Given the description of an element on the screen output the (x, y) to click on. 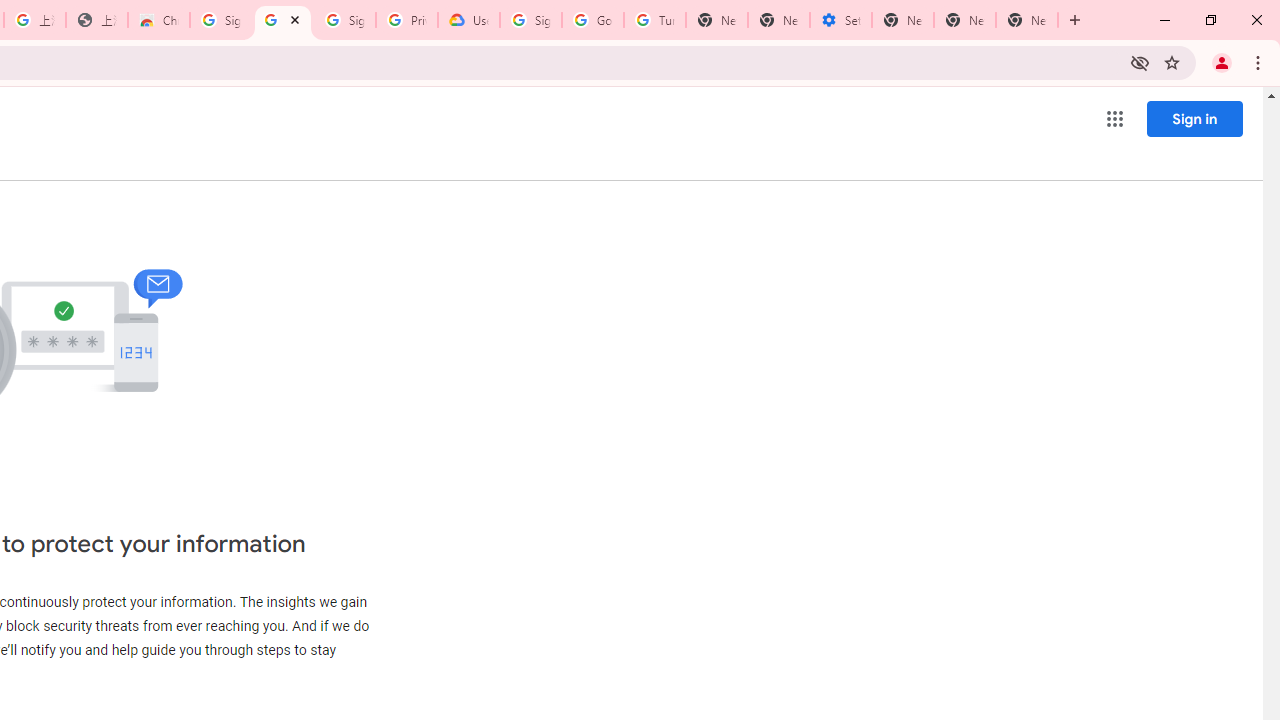
Settings - System (840, 20)
Sign in - Google Accounts (530, 20)
Sign in - Google Accounts (344, 20)
Google Account Help (592, 20)
New Tab (716, 20)
